Given the description of an element on the screen output the (x, y) to click on. 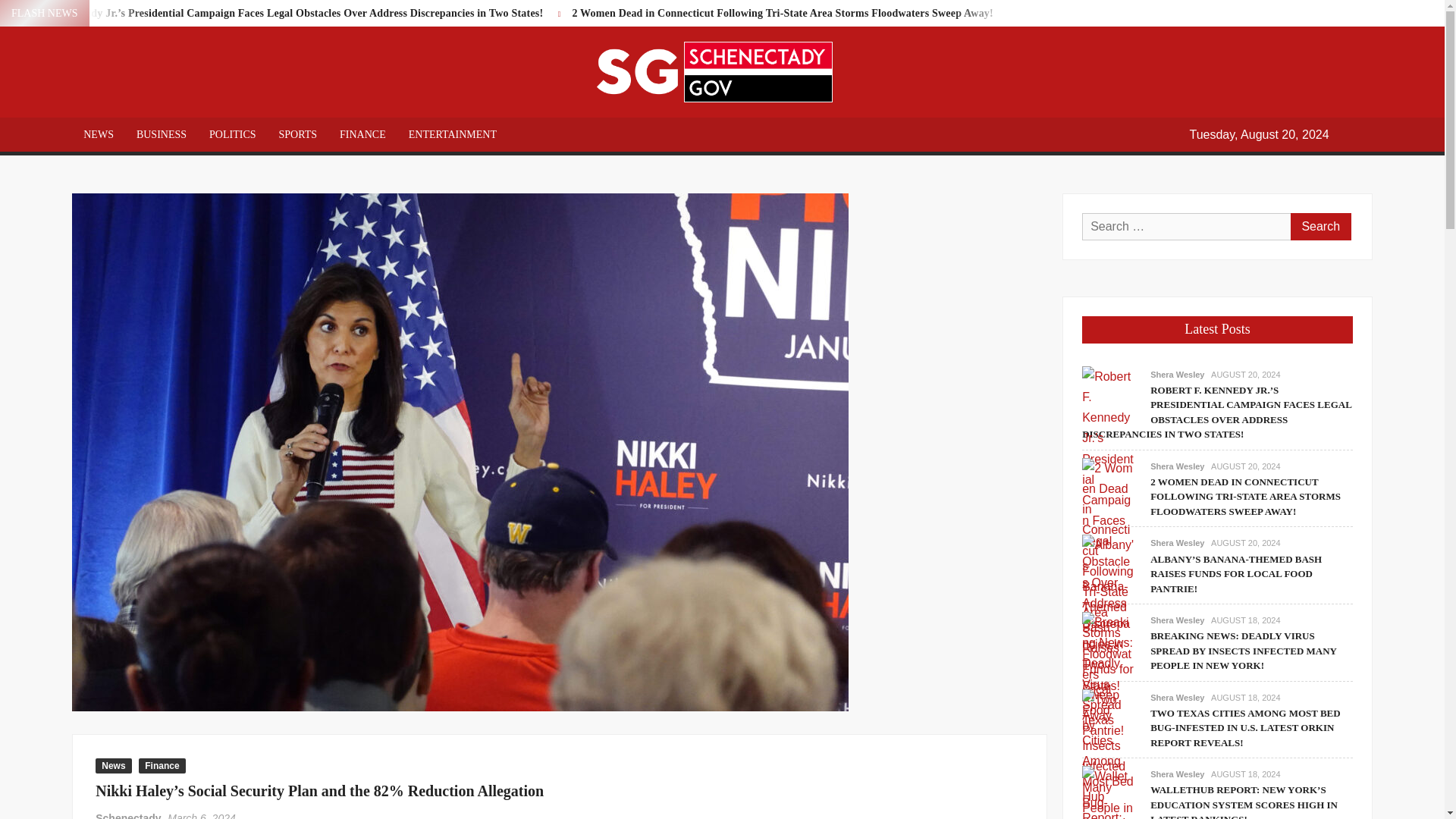
March 6, 2024 (201, 815)
Finance (161, 765)
FINANCE (363, 134)
News (113, 765)
Search (1320, 226)
Schenectady (128, 815)
POLITICS (232, 134)
